Given the description of an element on the screen output the (x, y) to click on. 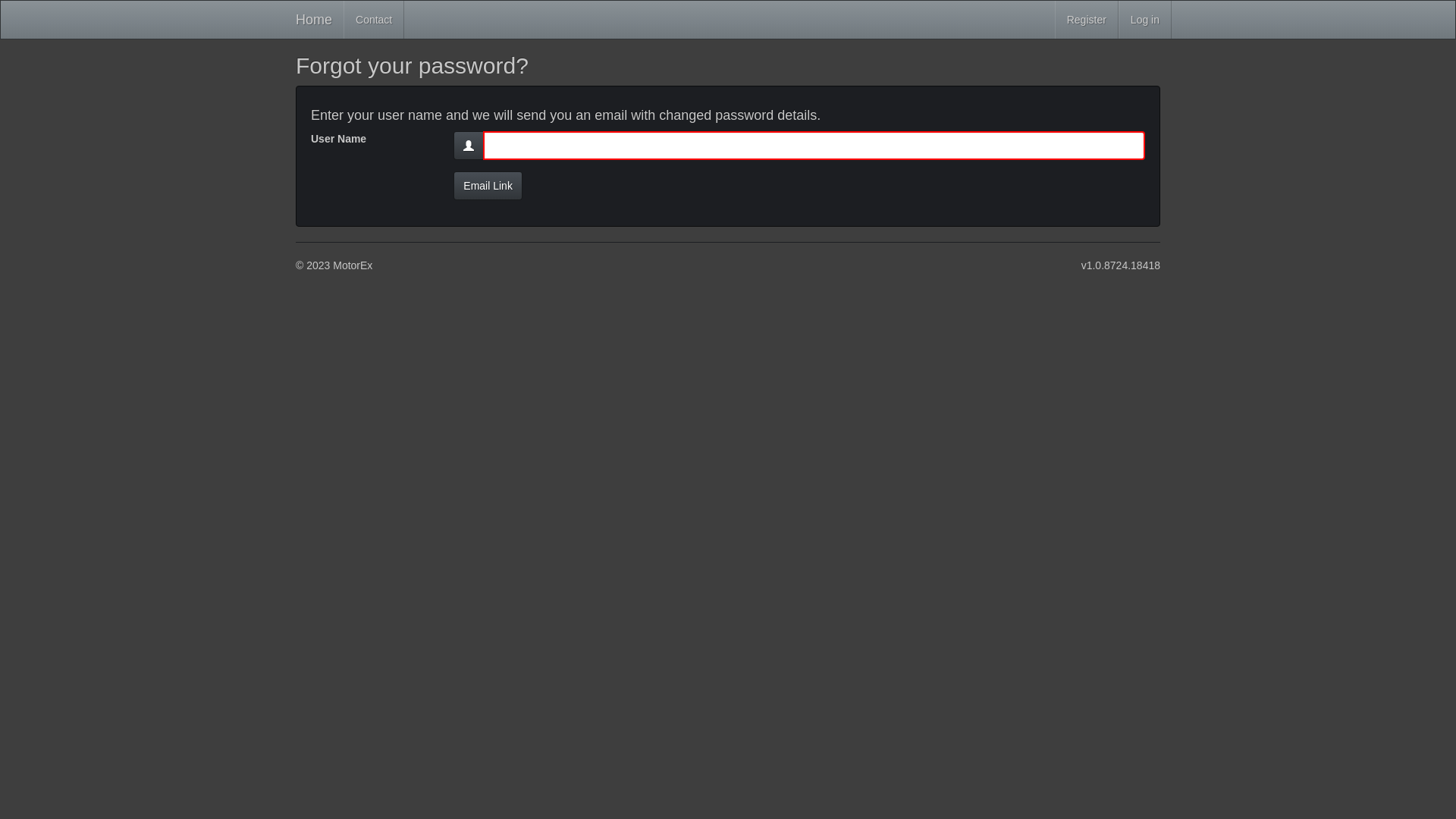
Home Element type: text (313, 19)
Register Element type: text (1086, 19)
Email Link Element type: text (487, 185)
Log in Element type: text (1144, 19)
Contact Element type: text (373, 19)
